Given the description of an element on the screen output the (x, y) to click on. 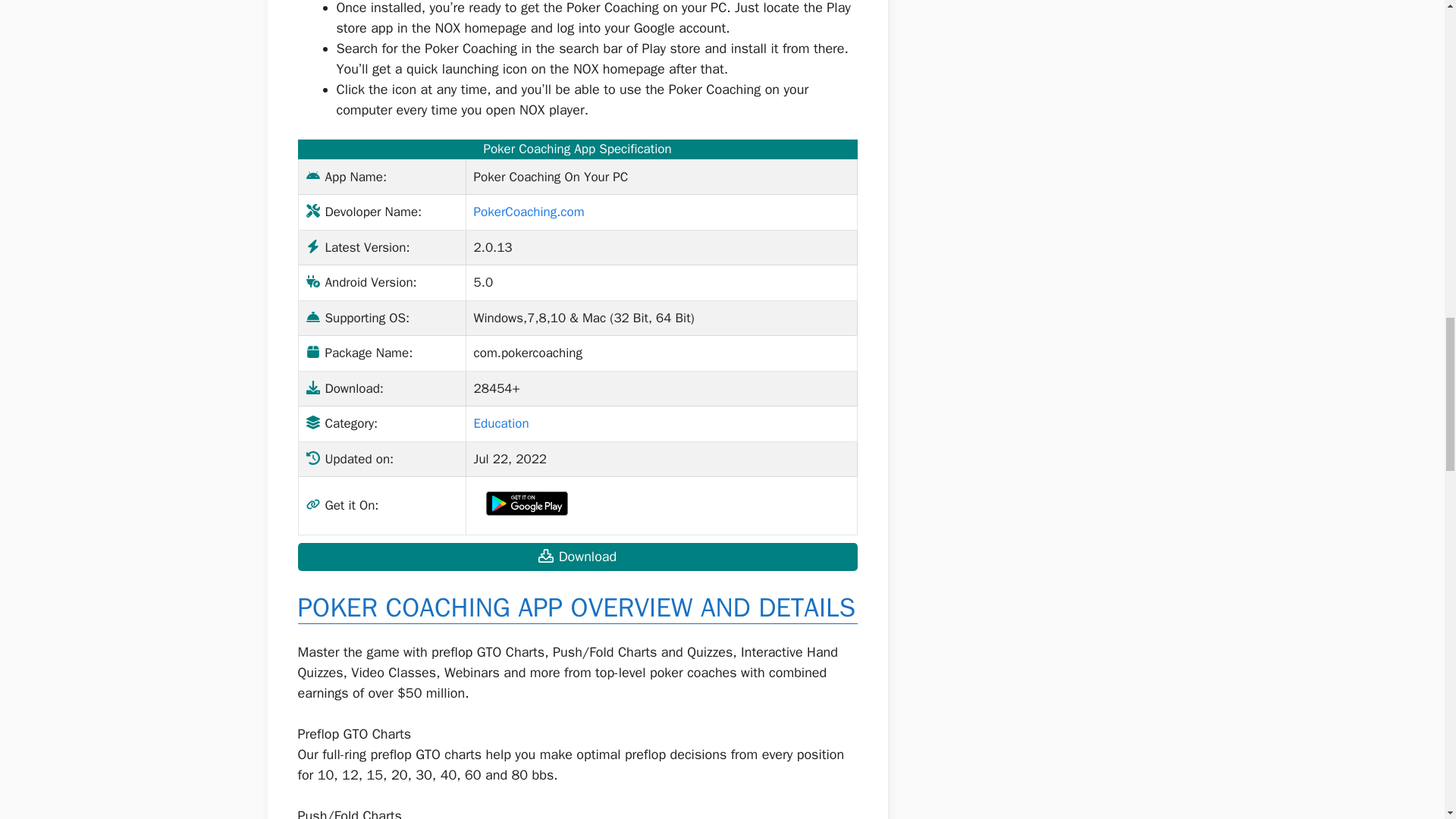
Download (577, 556)
PokerCoaching.com (529, 211)
Education (501, 423)
